Given the description of an element on the screen output the (x, y) to click on. 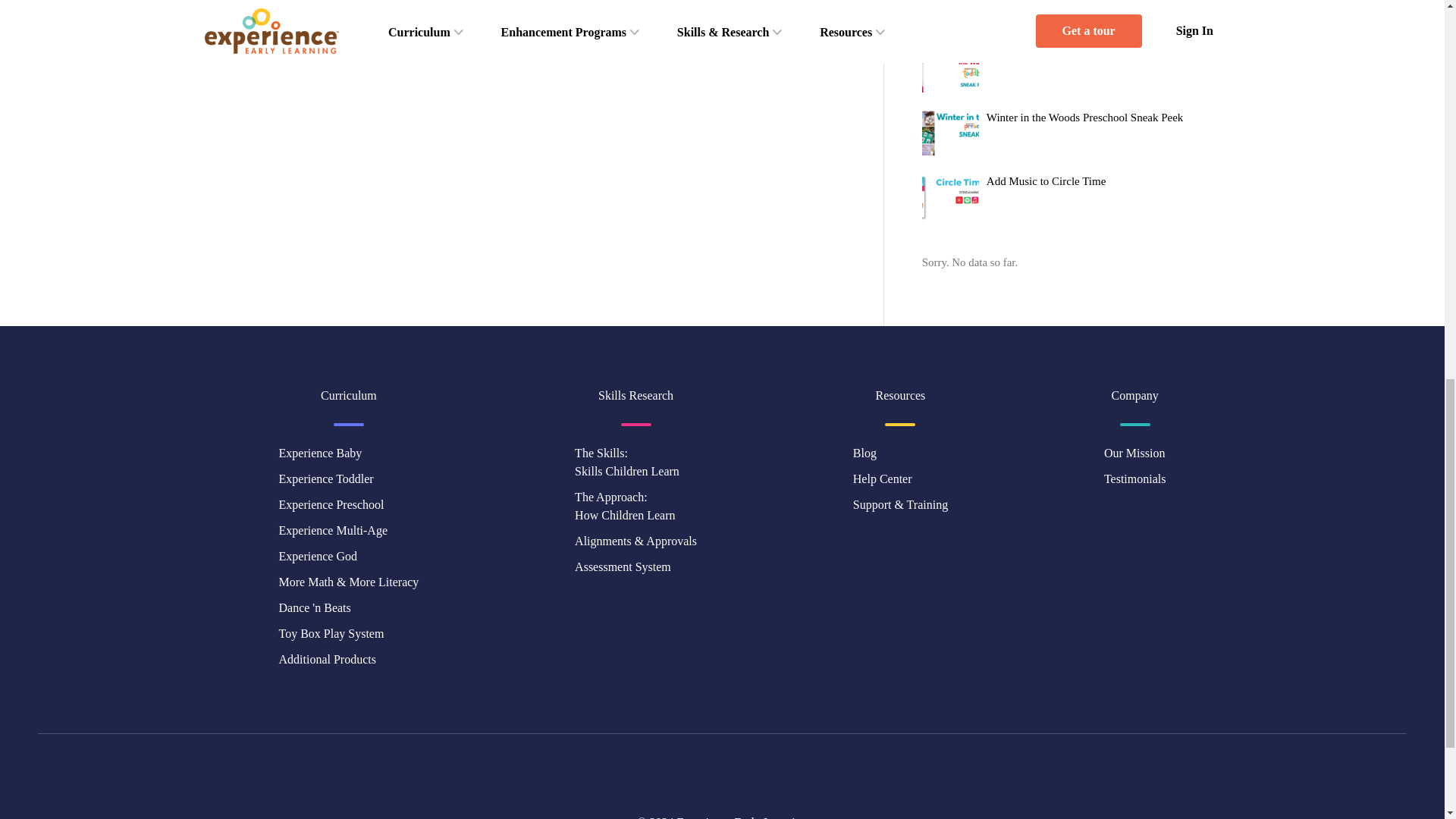
Permalink to Winter in the Woods Toddler Sneak Peek! (1082, 53)
Permalink to Winter in the Woods Preschool Sneak Peek (1085, 117)
Permalink to Add Music to Circle Time (1046, 181)
